Given the description of an element on the screen output the (x, y) to click on. 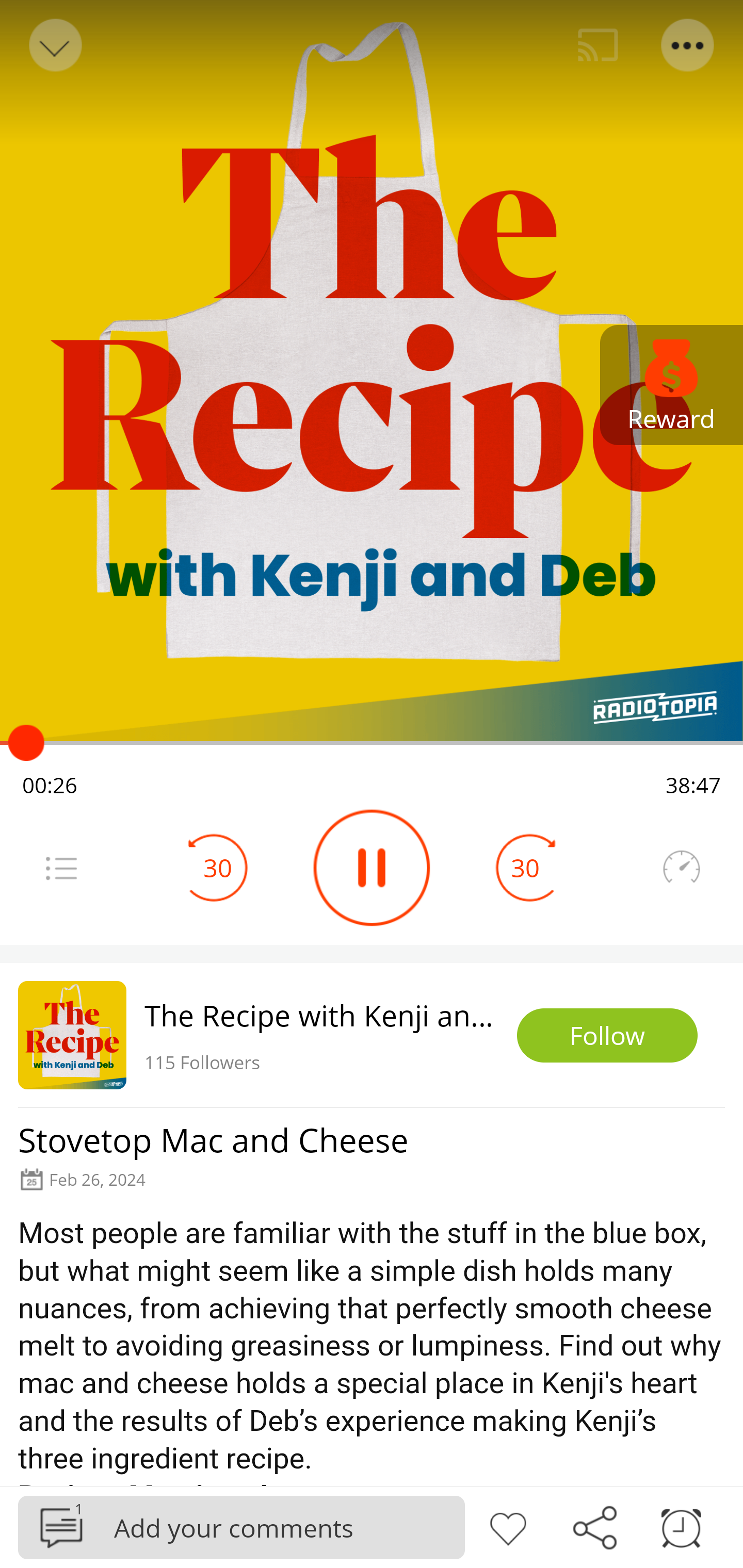
Back (53, 45)
Cast. Disconnected (597, 45)
Menu (688, 45)
Reward (671, 384)
Play (371, 867)
30 Seek Backward (217, 867)
30 Seek Forward (525, 867)
Menu (60, 867)
Speedometer (681, 867)
The Recipe with Kenji and Deb 115 Followers Follow (371, 1034)
Follow (607, 1035)
Like (508, 1526)
Share (594, 1526)
Sleep timer (681, 1526)
Podbean 1 Add your comments (241, 1526)
